Given the description of an element on the screen output the (x, y) to click on. 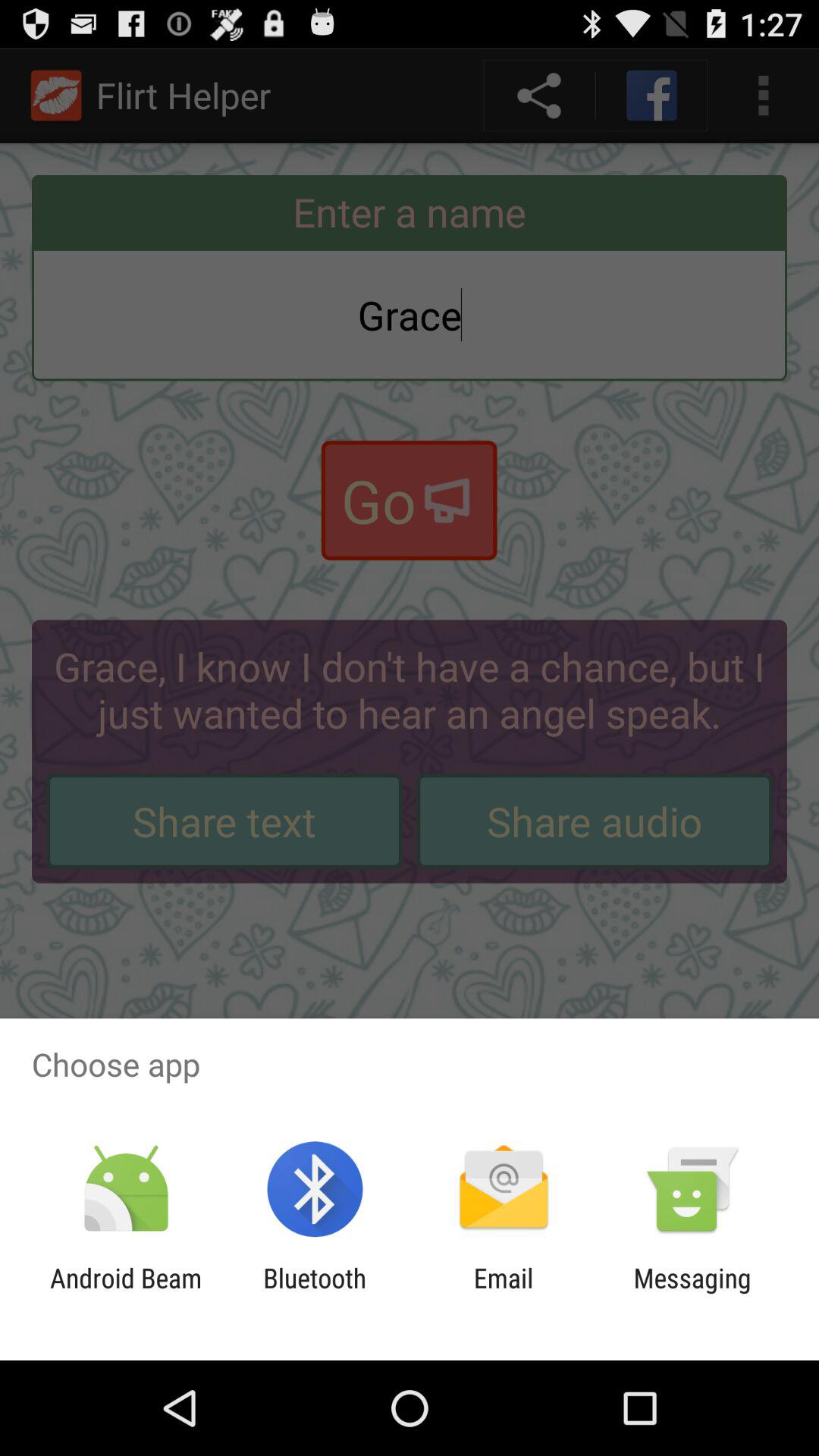
flip to the bluetooth item (314, 1293)
